Given the description of an element on the screen output the (x, y) to click on. 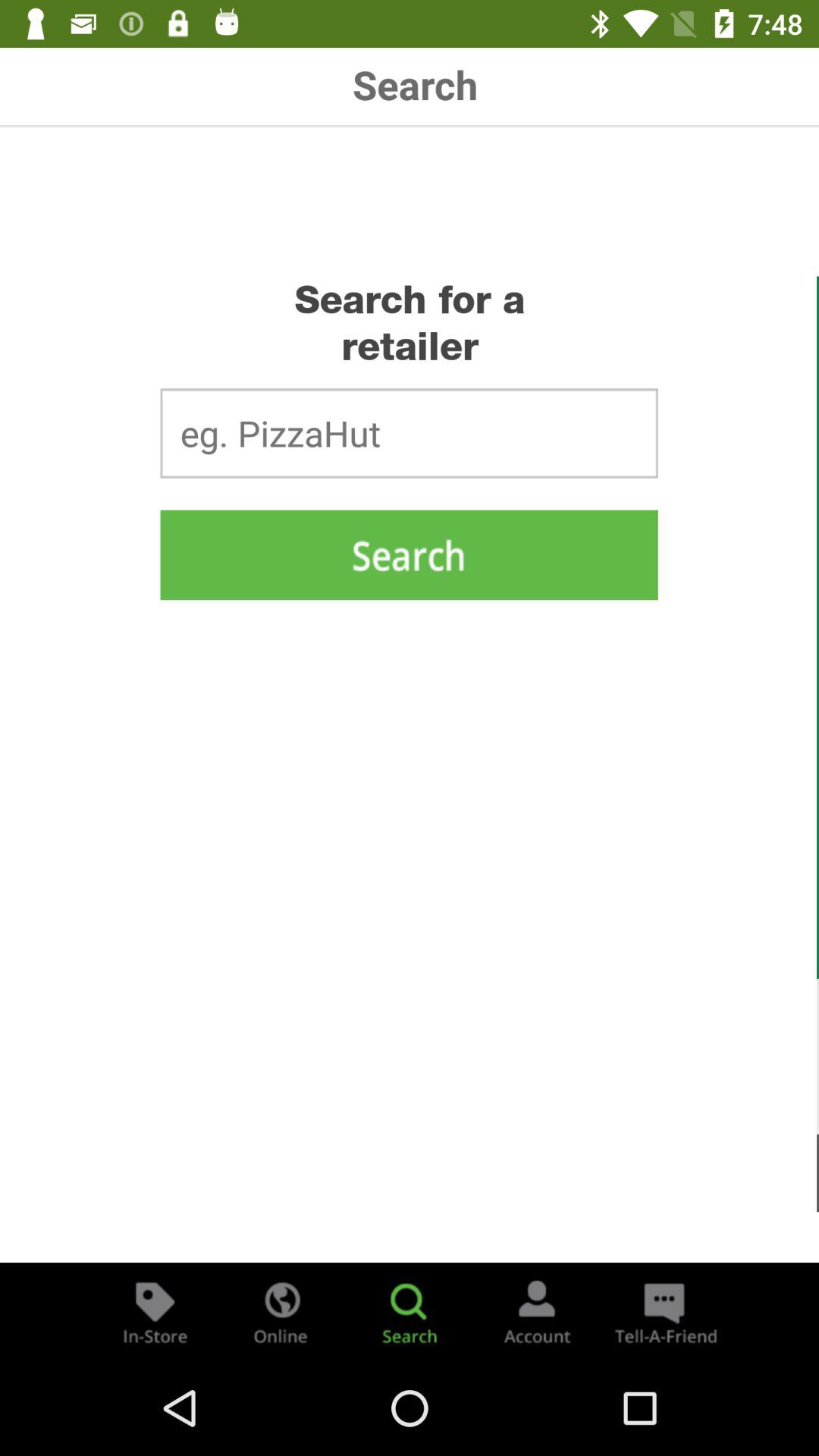
select search option (409, 1311)
